Given the description of an element on the screen output the (x, y) to click on. 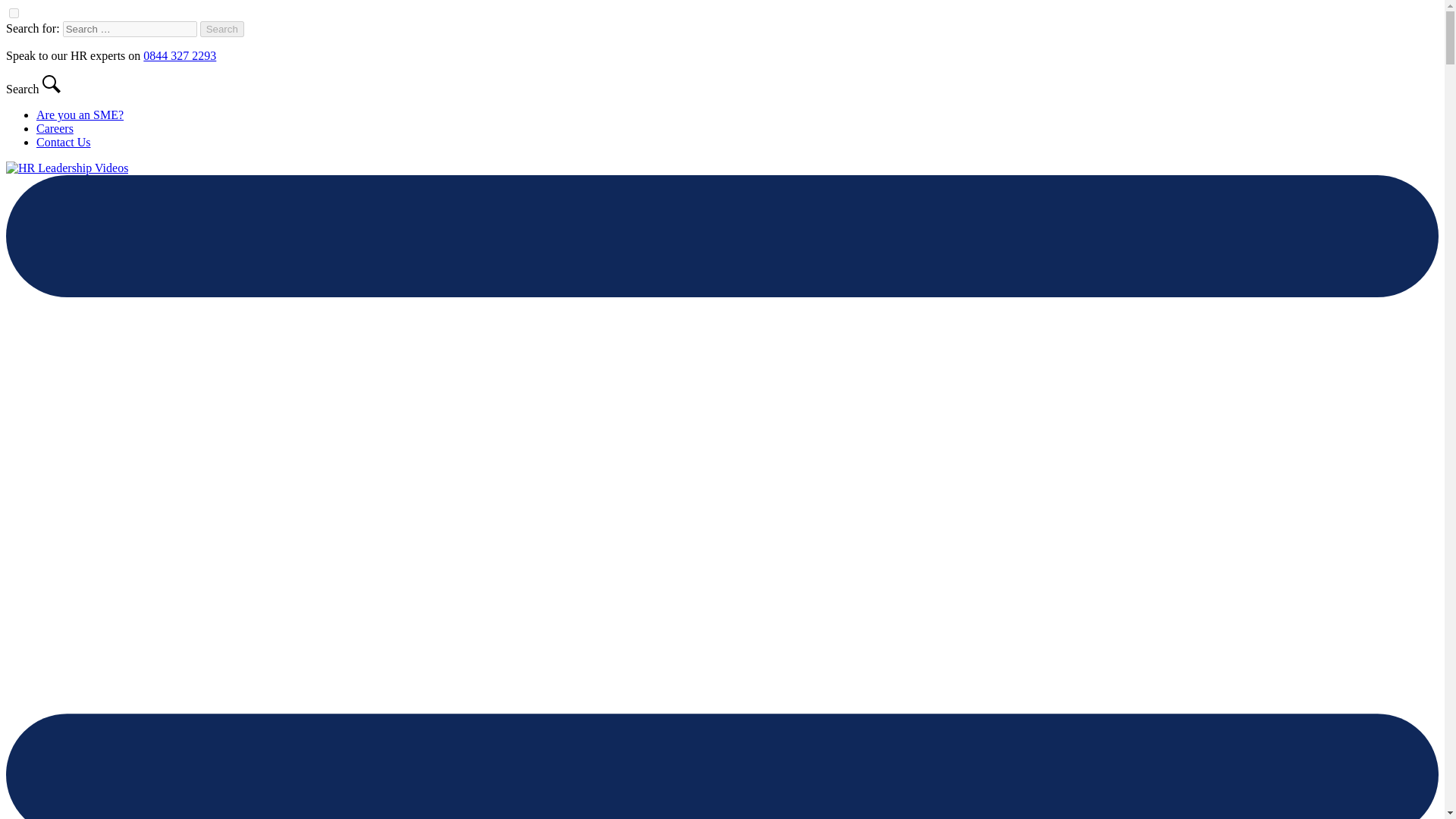
on (13, 13)
Careers (55, 128)
Search (222, 28)
0844 327 2293 (178, 55)
Are you an SME? (79, 114)
Search (222, 28)
Contact Us (63, 141)
Search (222, 28)
on (13, 13)
